Given the description of an element on the screen output the (x, y) to click on. 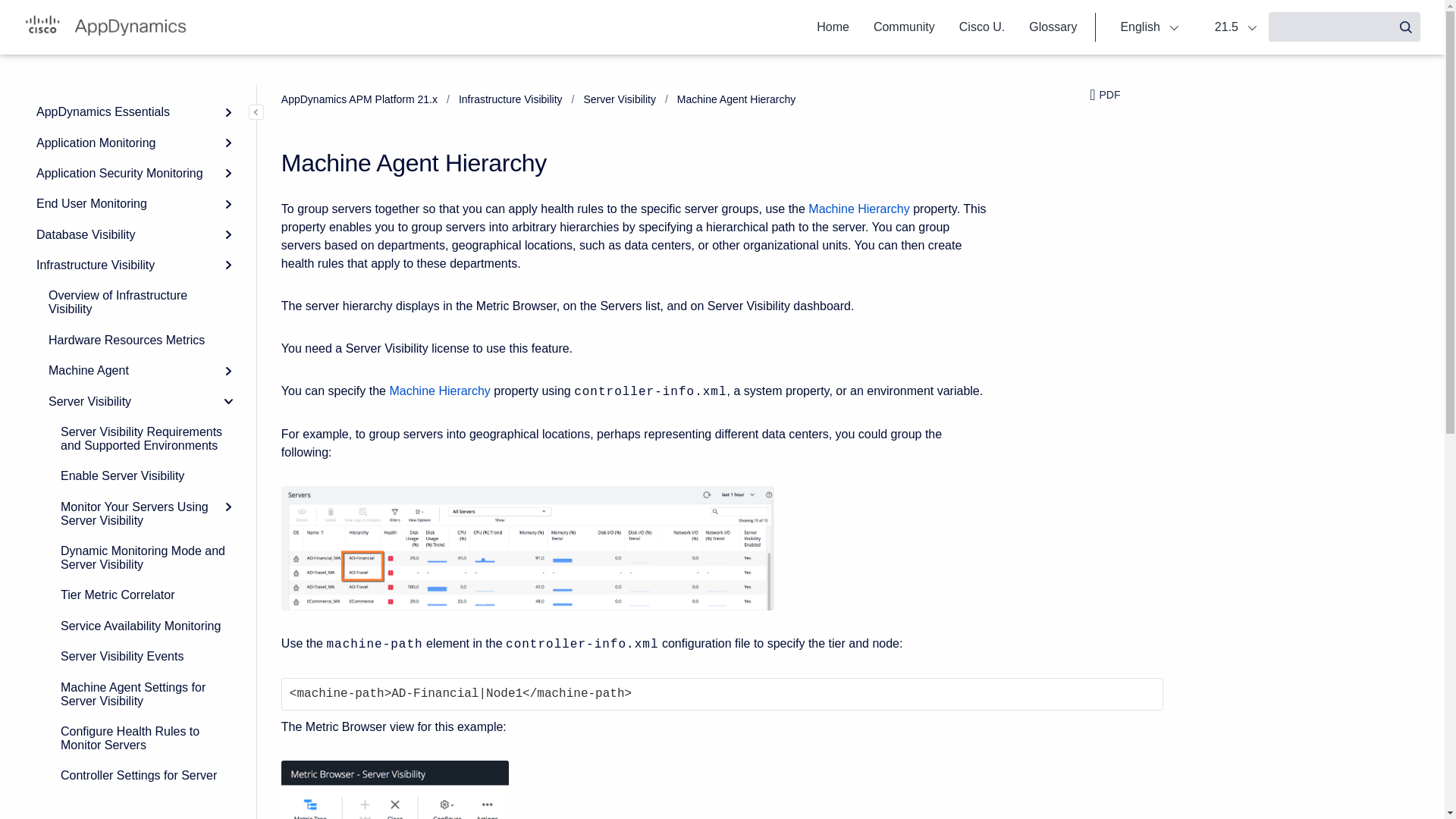
Hardware Resources Metrics (140, 340)
PDF (1110, 94)
Glossary (1052, 27)
Home (833, 27)
Cisco U. (981, 27)
Machine Agent (140, 370)
Database Visibility (134, 235)
PDF (1126, 95)
PDF (1126, 105)
AppD Documentation Portal (105, 27)
Overview of Infrastructure Visibility (140, 302)
21.5 (1229, 26)
Infrastructure Visibility (134, 265)
Community (904, 27)
